Given the description of an element on the screen output the (x, y) to click on. 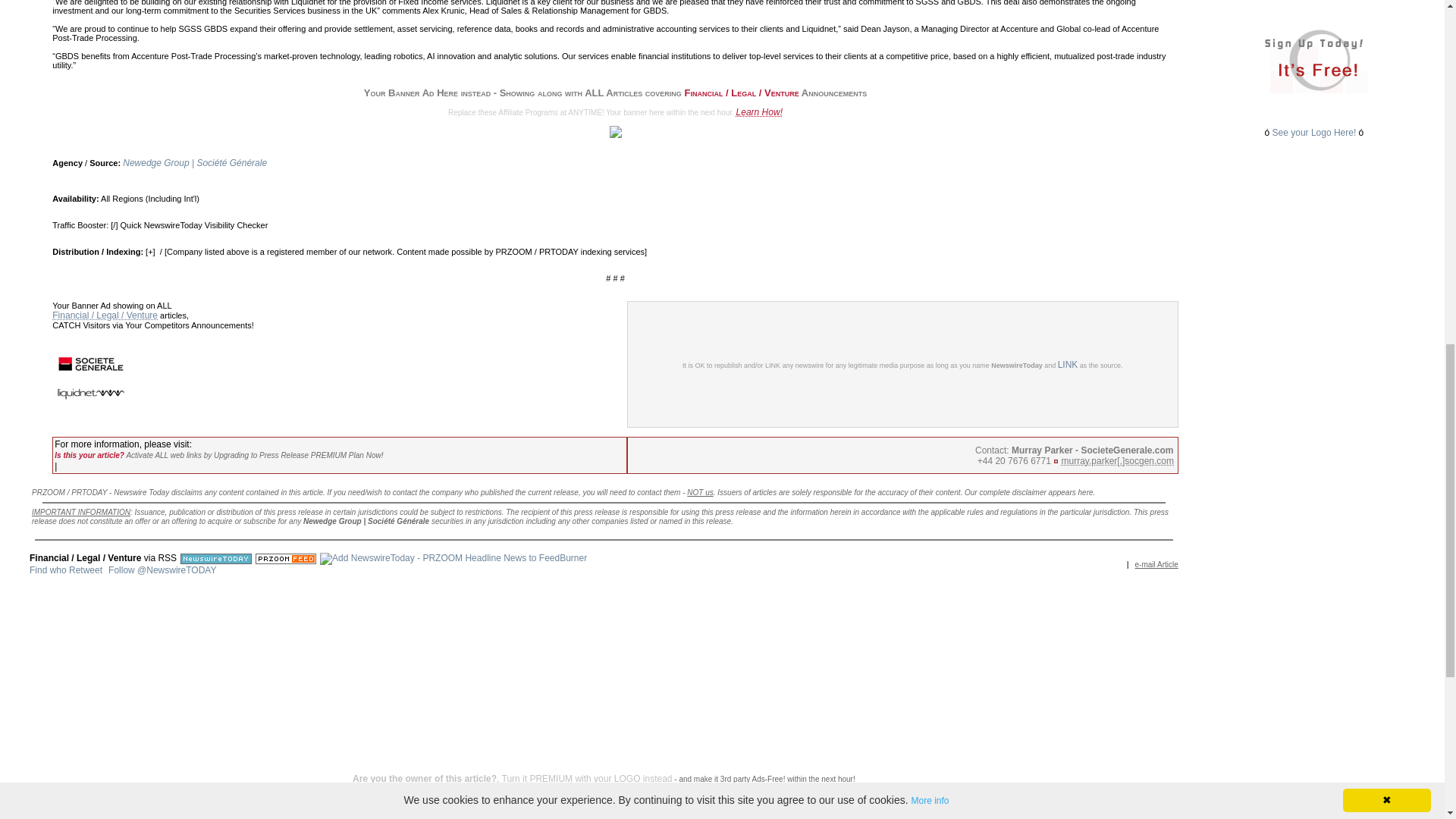
Quick NewswireToday (161, 225)
Learn How! (759, 112)
LINK (1068, 364)
here (1085, 491)
Find who Retweet (65, 570)
e-mail Article (1156, 563)
